Given the description of an element on the screen output the (x, y) to click on. 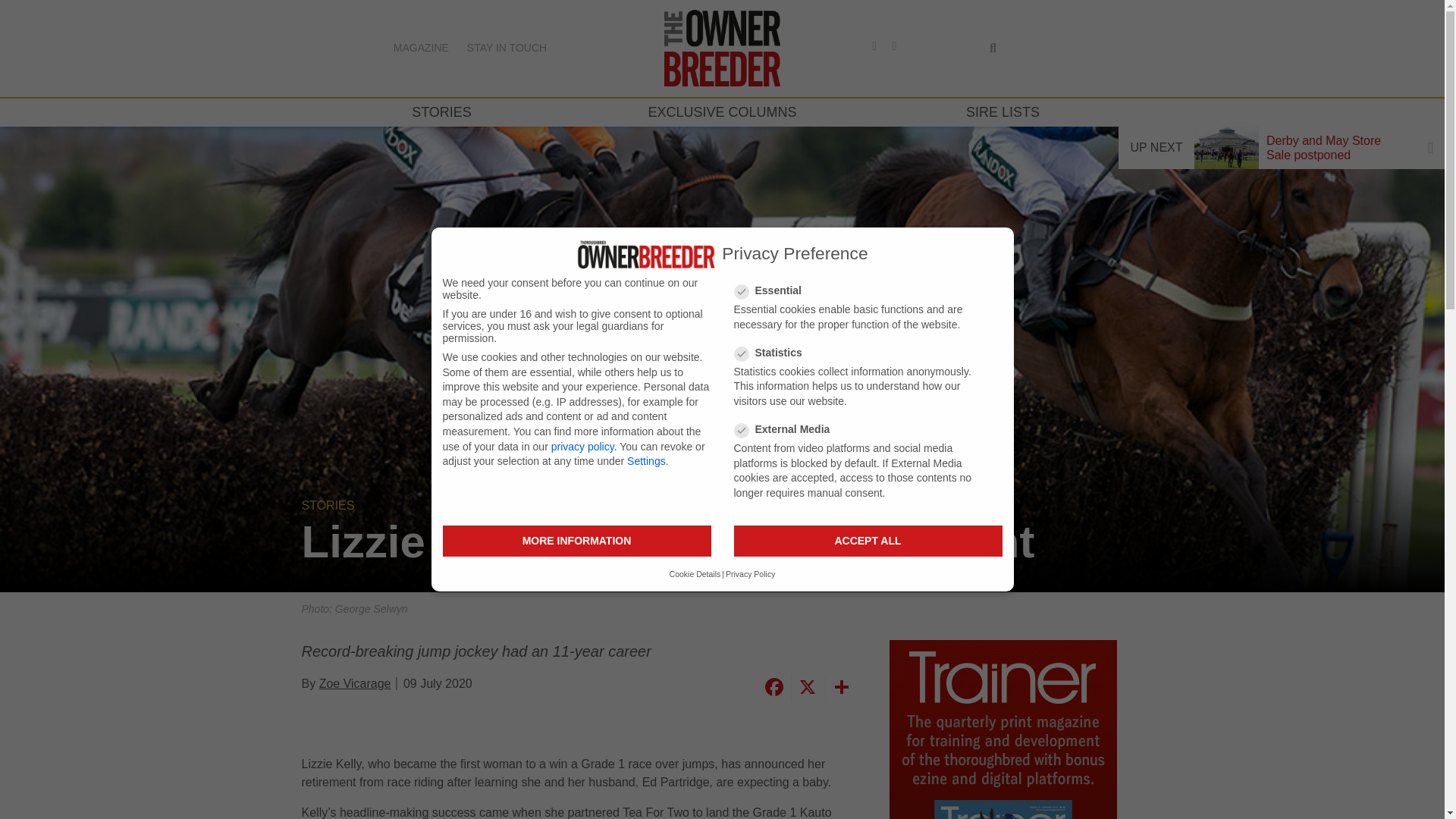
SIRE LISTS (1002, 111)
MAGAZINE (420, 47)
X (805, 687)
Facebook (772, 687)
EXCLUSIVE COLUMNS (721, 111)
STAY IN TOUCH (507, 48)
Zoe Vicarage (354, 683)
STORIES (441, 111)
